Given the description of an element on the screen output the (x, y) to click on. 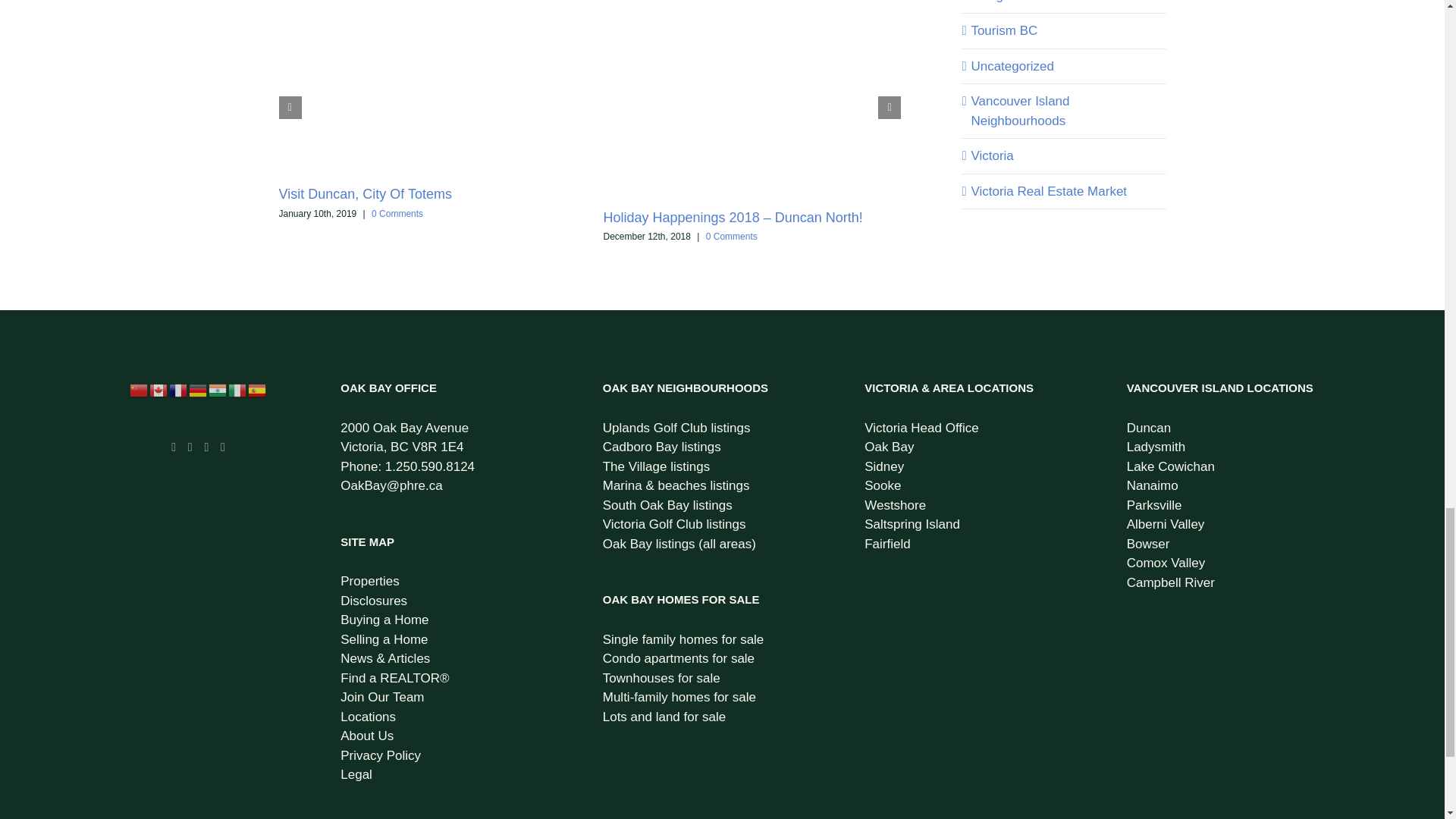
English (158, 389)
Visit Duncan, City of Totems (365, 193)
French (178, 389)
